Given the description of an element on the screen output the (x, y) to click on. 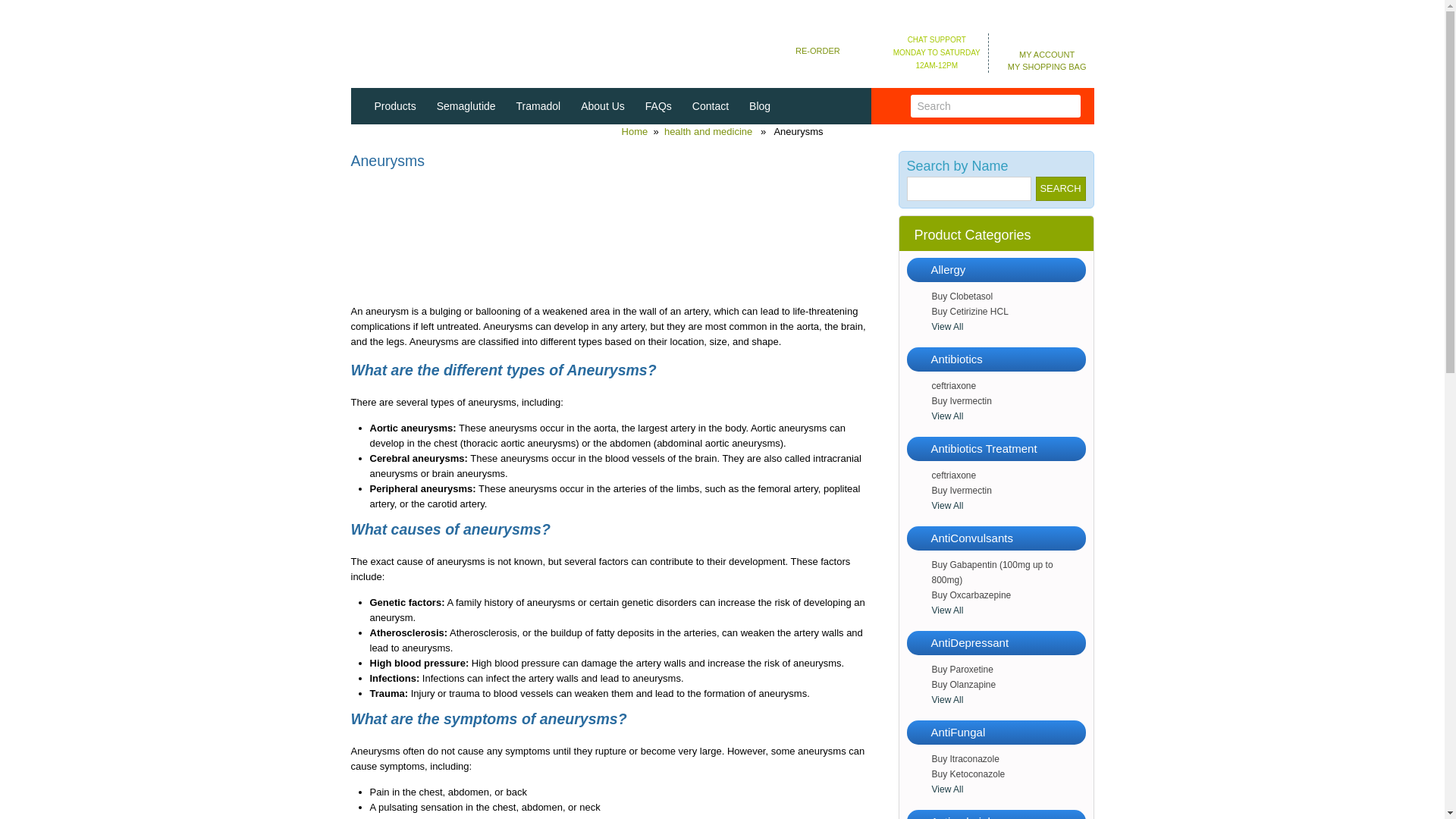
Buy Cetirizine HCL (1007, 311)
Blog (759, 105)
View All (1007, 326)
Tramadol (539, 105)
View All (1007, 416)
View All (1007, 505)
MY SHOPPING BAG (1040, 66)
SEARCH (1060, 188)
View All (1007, 610)
About Us (602, 105)
